Given the description of an element on the screen output the (x, y) to click on. 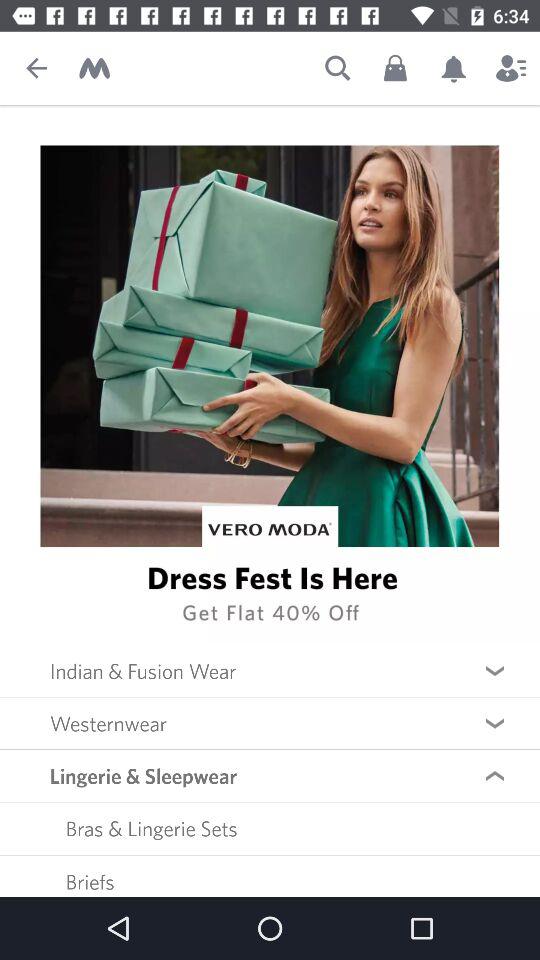
perform a search (337, 68)
